Given the description of an element on the screen output the (x, y) to click on. 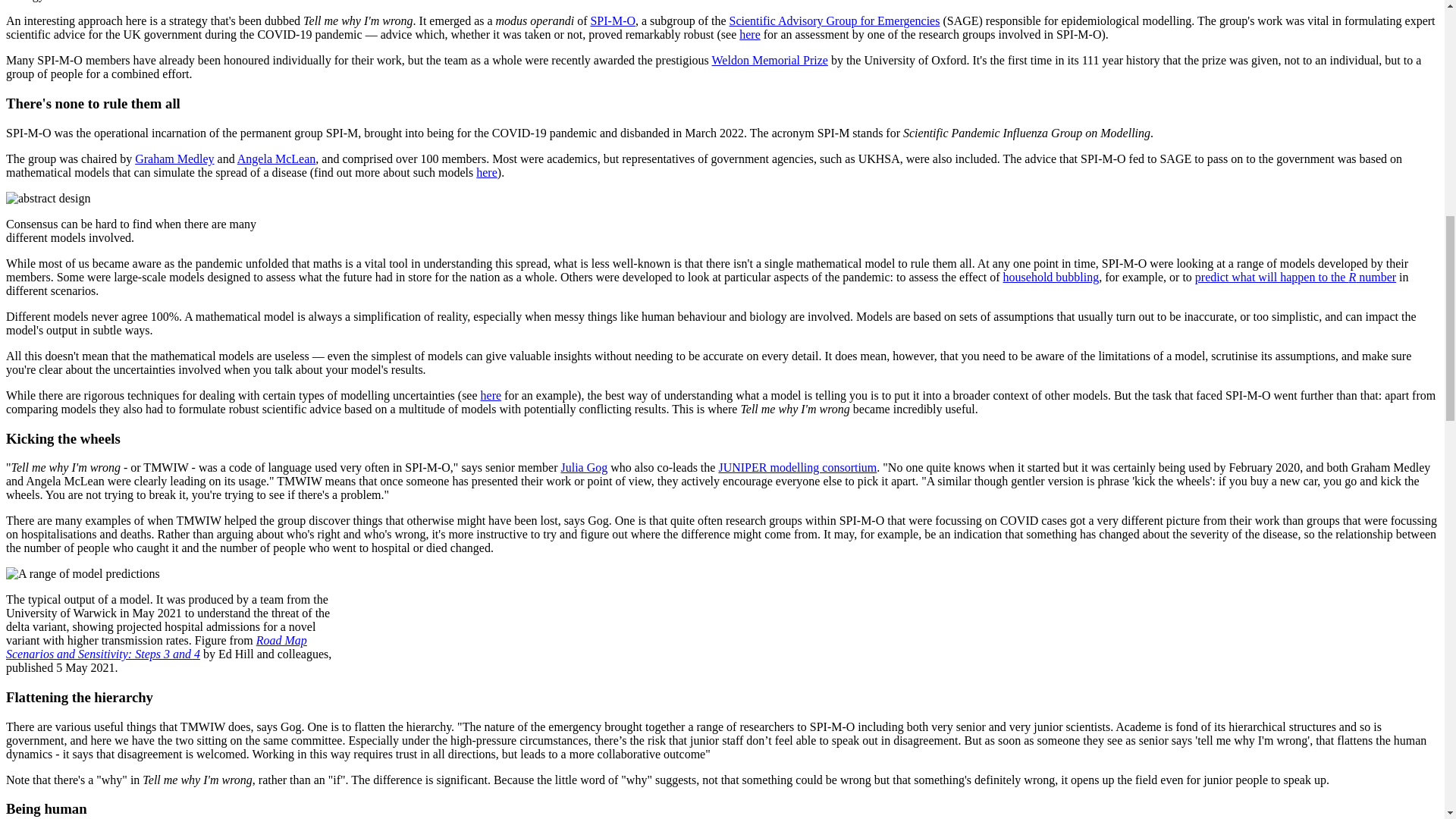
Scientific Advisory Group for Emergencies (834, 20)
Julia Gog (583, 467)
here (749, 33)
Weldon Memorial Prize (769, 60)
Angela McLean (276, 158)
SPI-M-O (611, 20)
household bubbling (1051, 277)
here (486, 172)
predict what will happen to the R number (1295, 277)
Graham Medley (174, 158)
JUNIPER modelling consortium (796, 467)
Road Map Scenarios and Sensitivity: Steps 3 and 4 (156, 646)
here (491, 395)
